Given the description of an element on the screen output the (x, y) to click on. 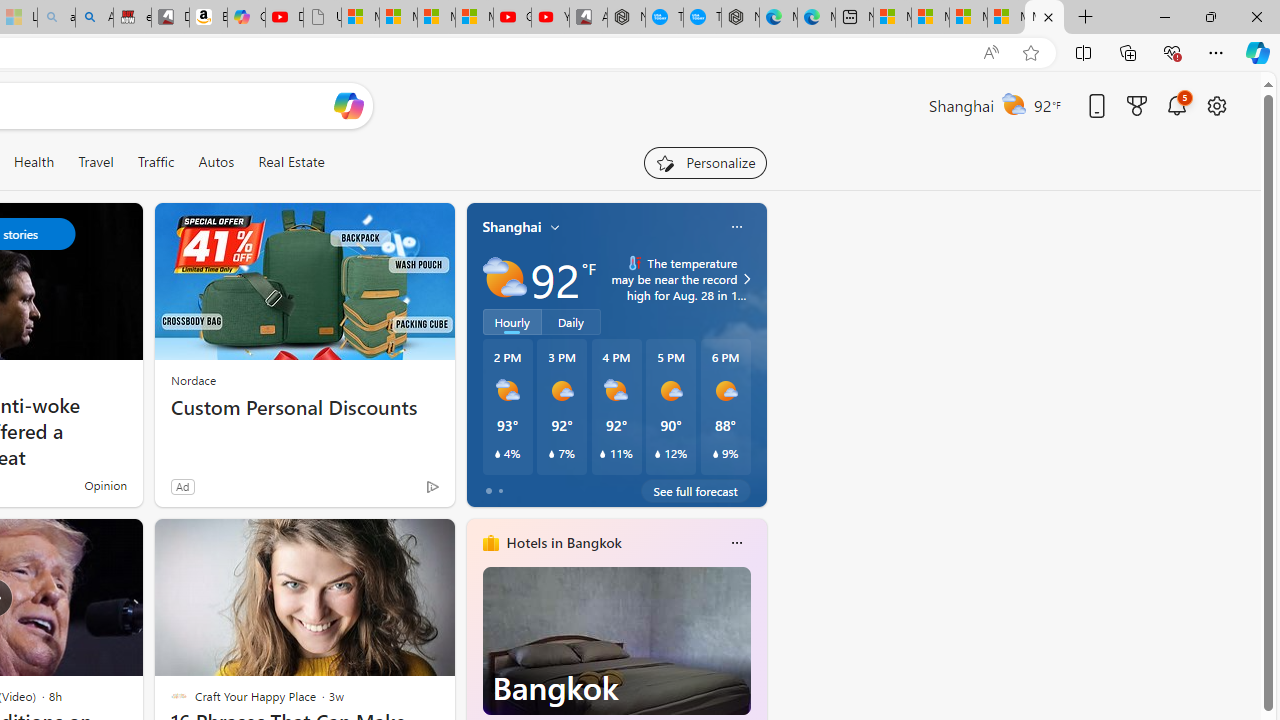
amazon - Search - Sleeping (56, 17)
Amazon Echo Dot PNG - Search Images (93, 17)
Day 1: Arriving in Yemen (surreal to be here) - YouTube (284, 17)
Real Estate (290, 162)
hotels-header-icon (490, 542)
Travel (95, 162)
Hide this story (393, 542)
Microsoft Start (1044, 17)
Personalize your feed" (704, 162)
Nordace - My Account (626, 17)
